Given the description of an element on the screen output the (x, y) to click on. 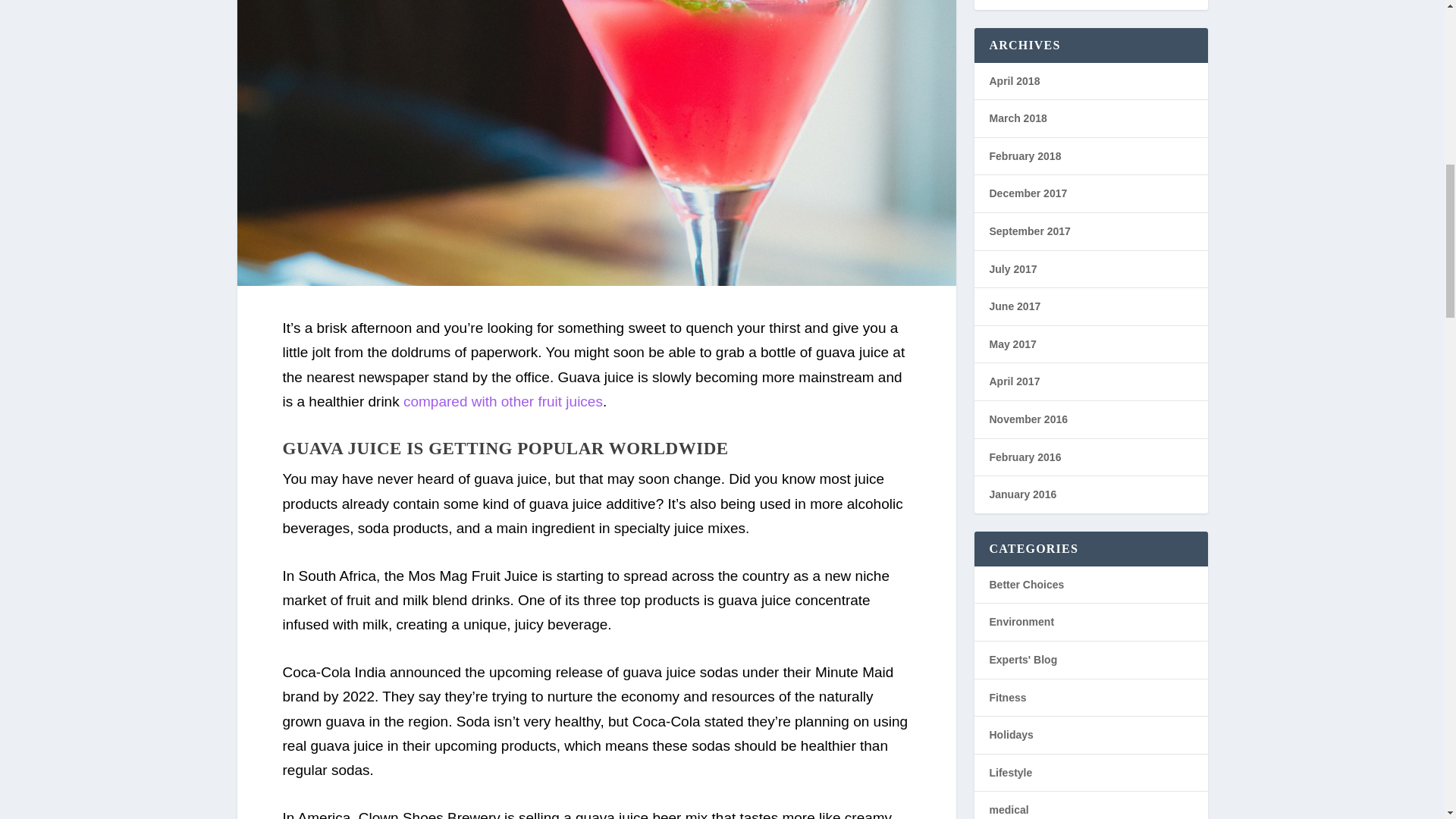
compared with other fruit juices (502, 401)
